Given the description of an element on the screen output the (x, y) to click on. 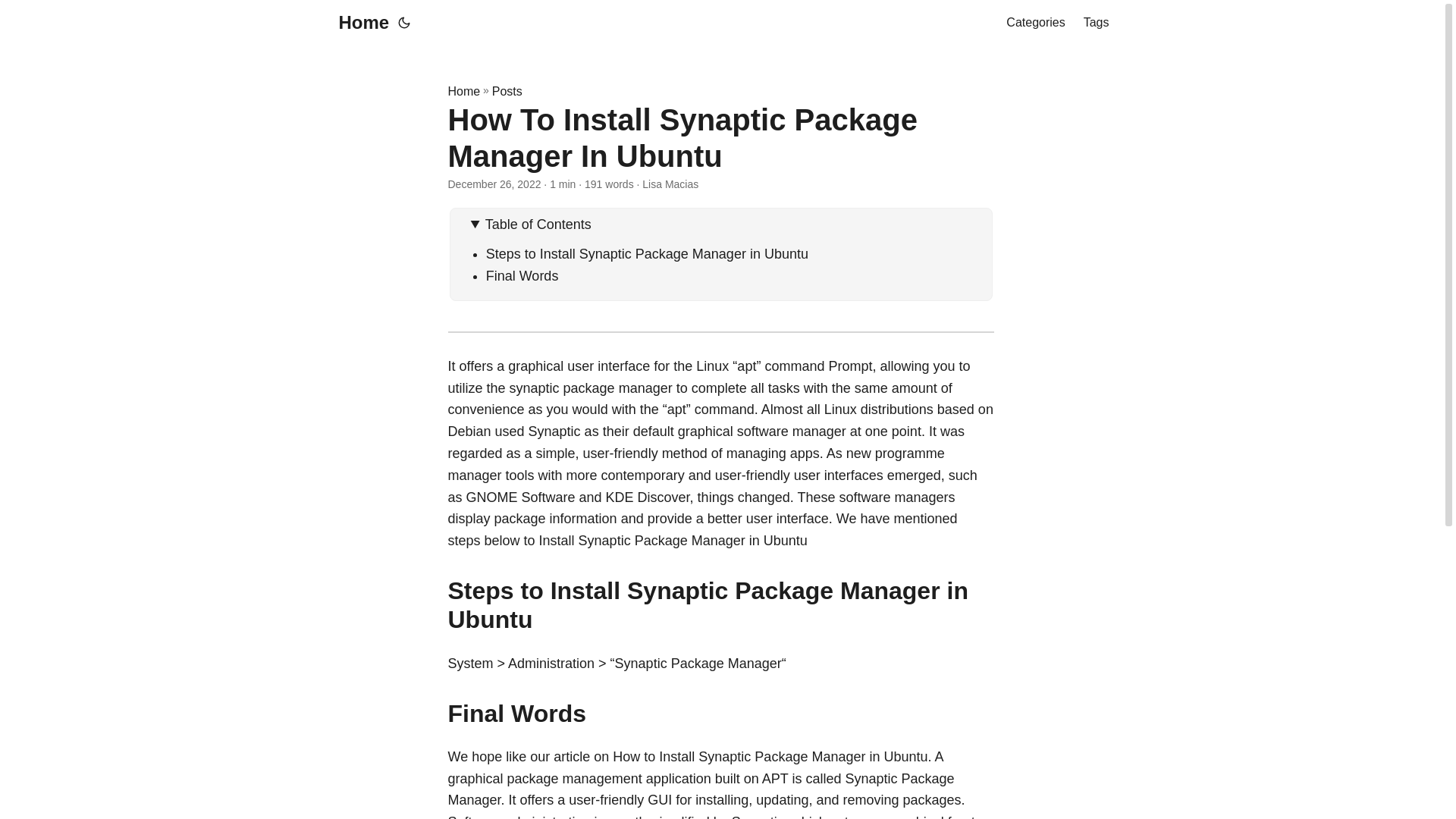
Posts (507, 91)
Steps to Install Synaptic Package Manager in Ubuntu (647, 253)
Home (463, 91)
Final Words (522, 275)
Categories (1035, 22)
Home (359, 22)
Categories (1035, 22)
